Given the description of an element on the screen output the (x, y) to click on. 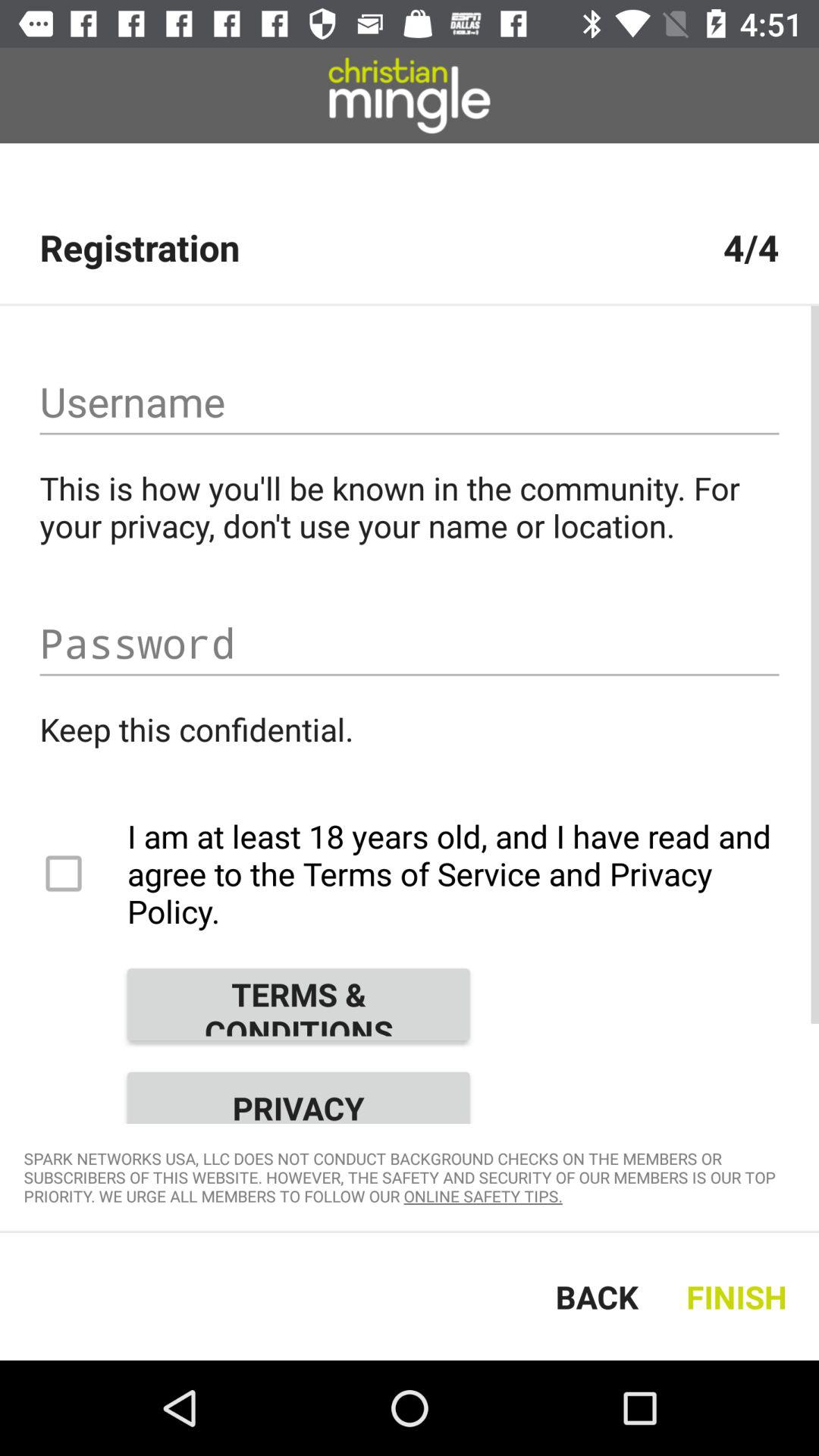
flip to the back item (596, 1296)
